Given the description of an element on the screen output the (x, y) to click on. 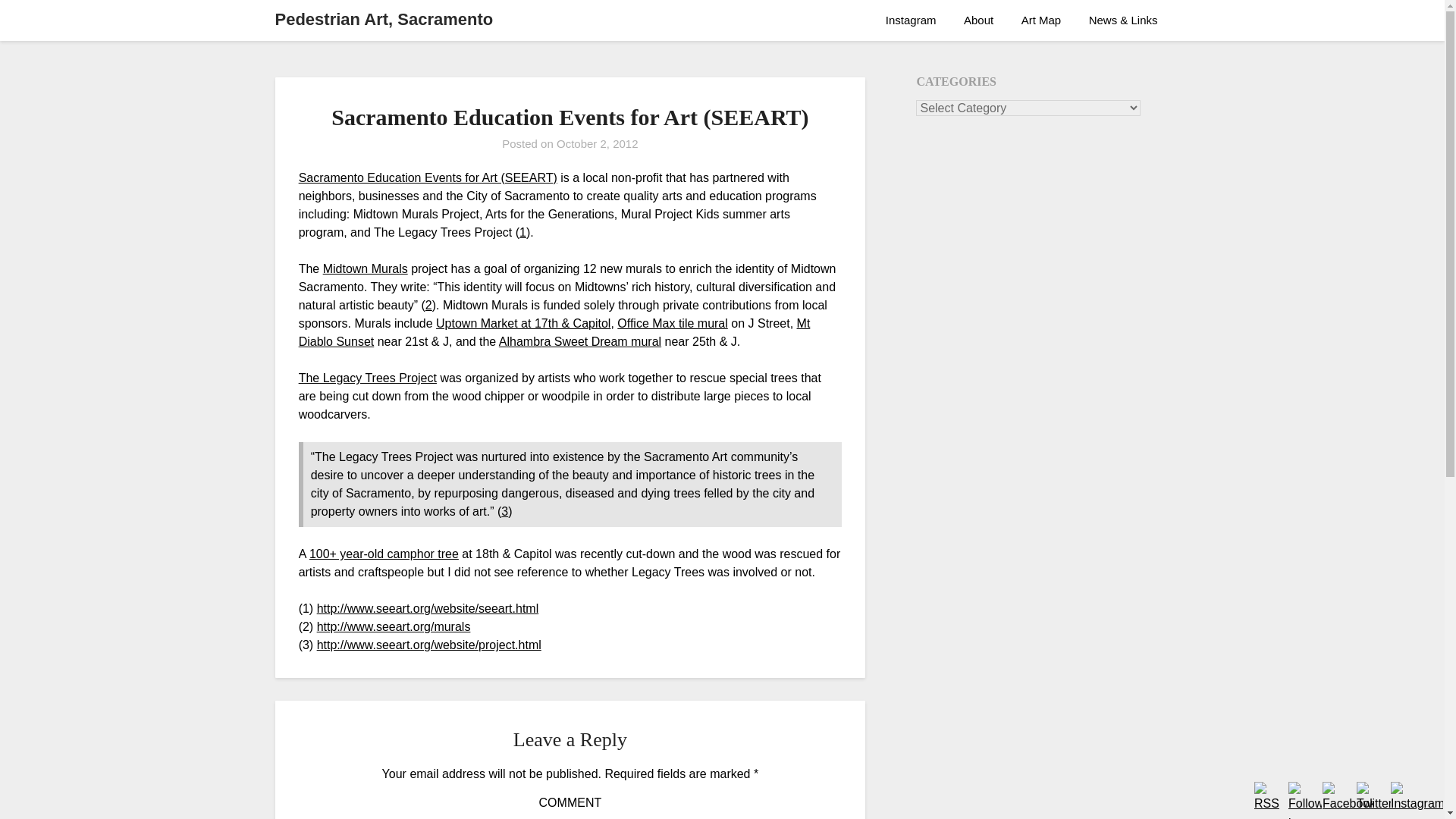
Twitter (1373, 798)
Alhambra Sweet Dream mural (580, 341)
Instagram (911, 20)
The Legacy Trees Project (367, 377)
Mt Diablo Sunset (554, 332)
Facebook (1348, 798)
Midtown Murals (365, 268)
Pedestrian Art, Sacramento (384, 19)
Follow by Email (1305, 800)
RSS (1268, 798)
